Given the description of an element on the screen output the (x, y) to click on. 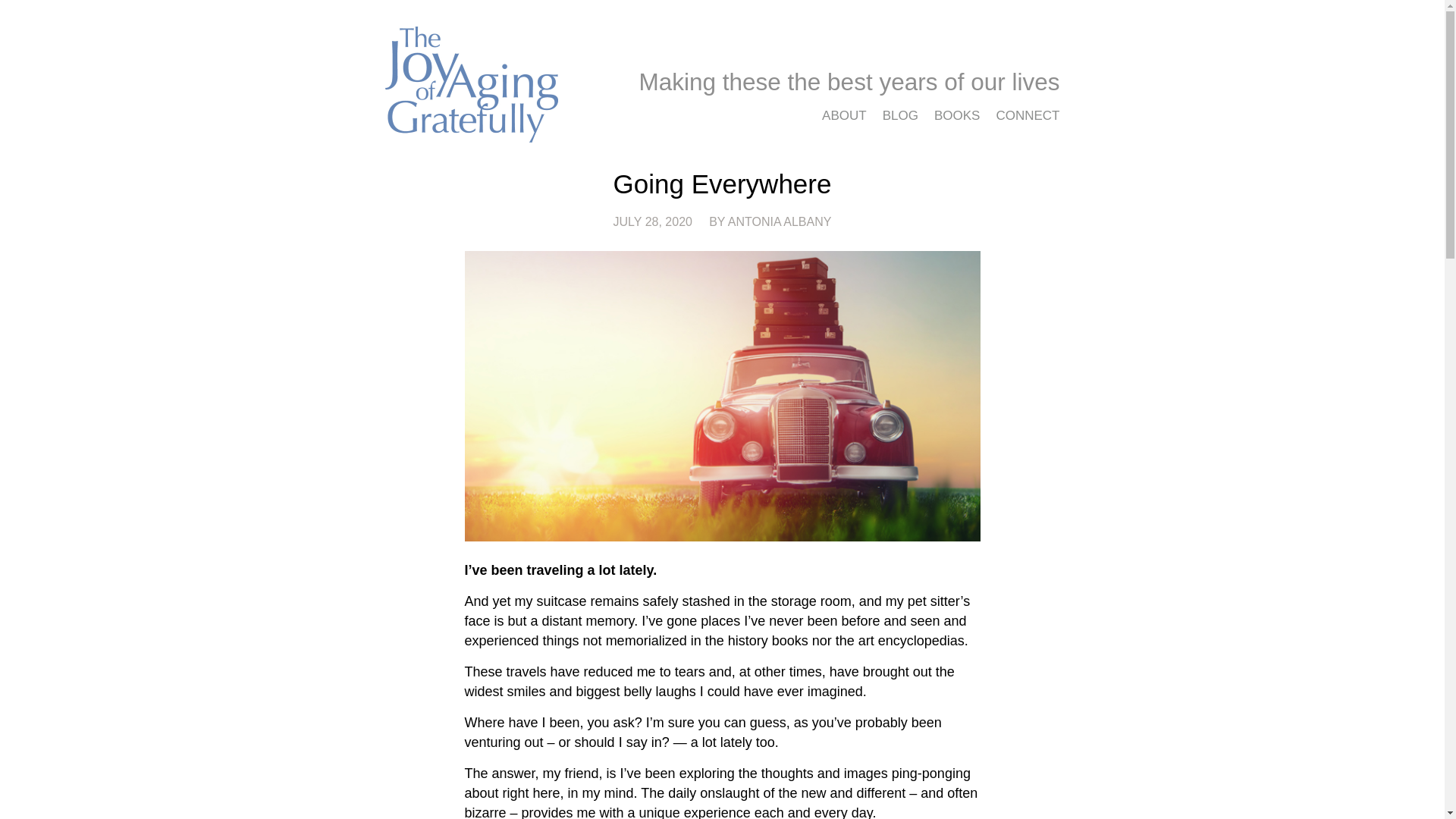
BOOKS (956, 115)
ABOUT (843, 115)
BLOG (900, 115)
CONNECT (1024, 115)
